Given the description of an element on the screen output the (x, y) to click on. 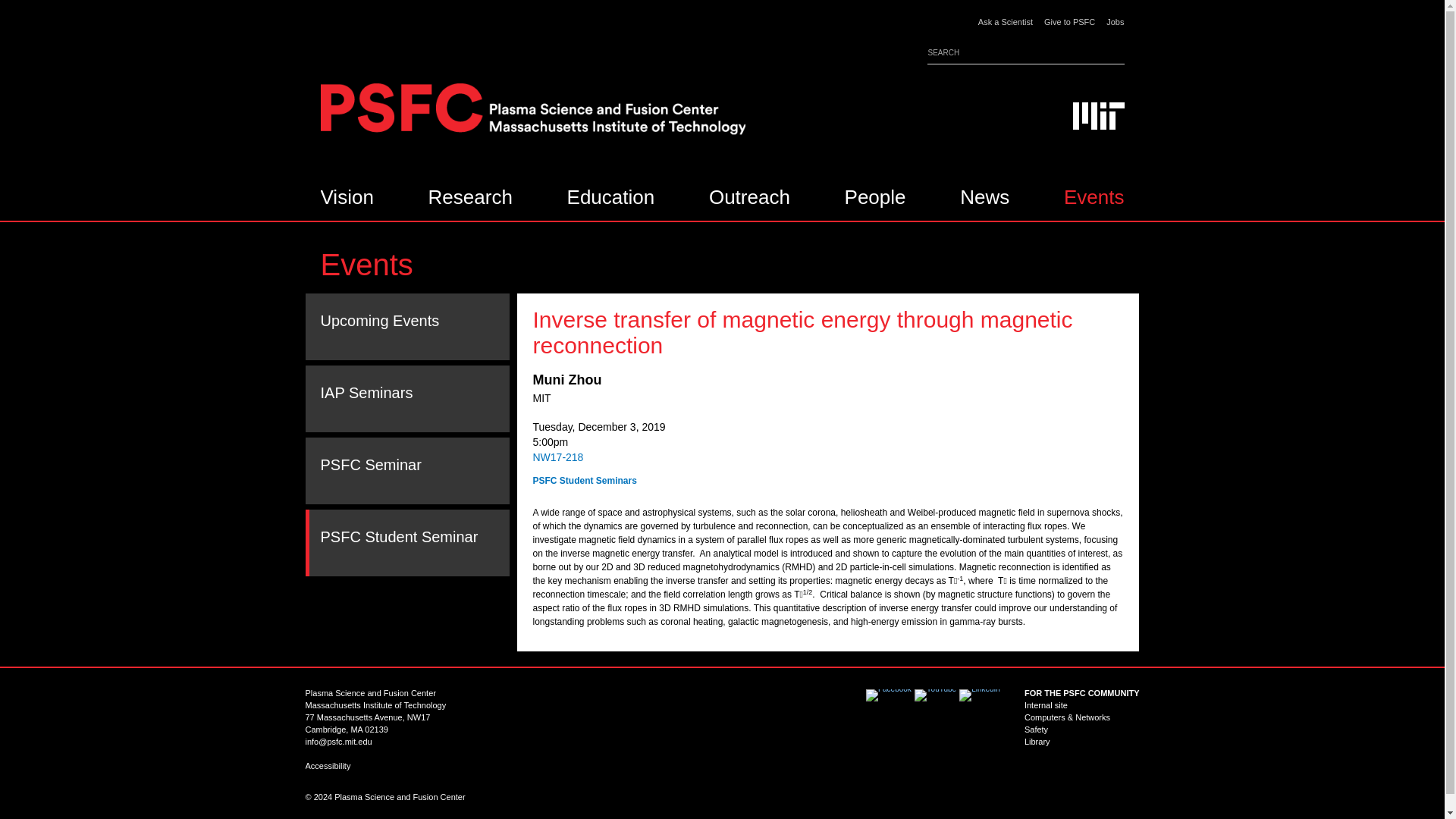
Go (1115, 51)
MIT home (1097, 126)
Visit us on YouTube (935, 695)
Visit us on Facebook (888, 695)
Visit us on LinkedIn (979, 695)
Enter the terms you wish to search for. (1025, 50)
